Given the description of an element on the screen output the (x, y) to click on. 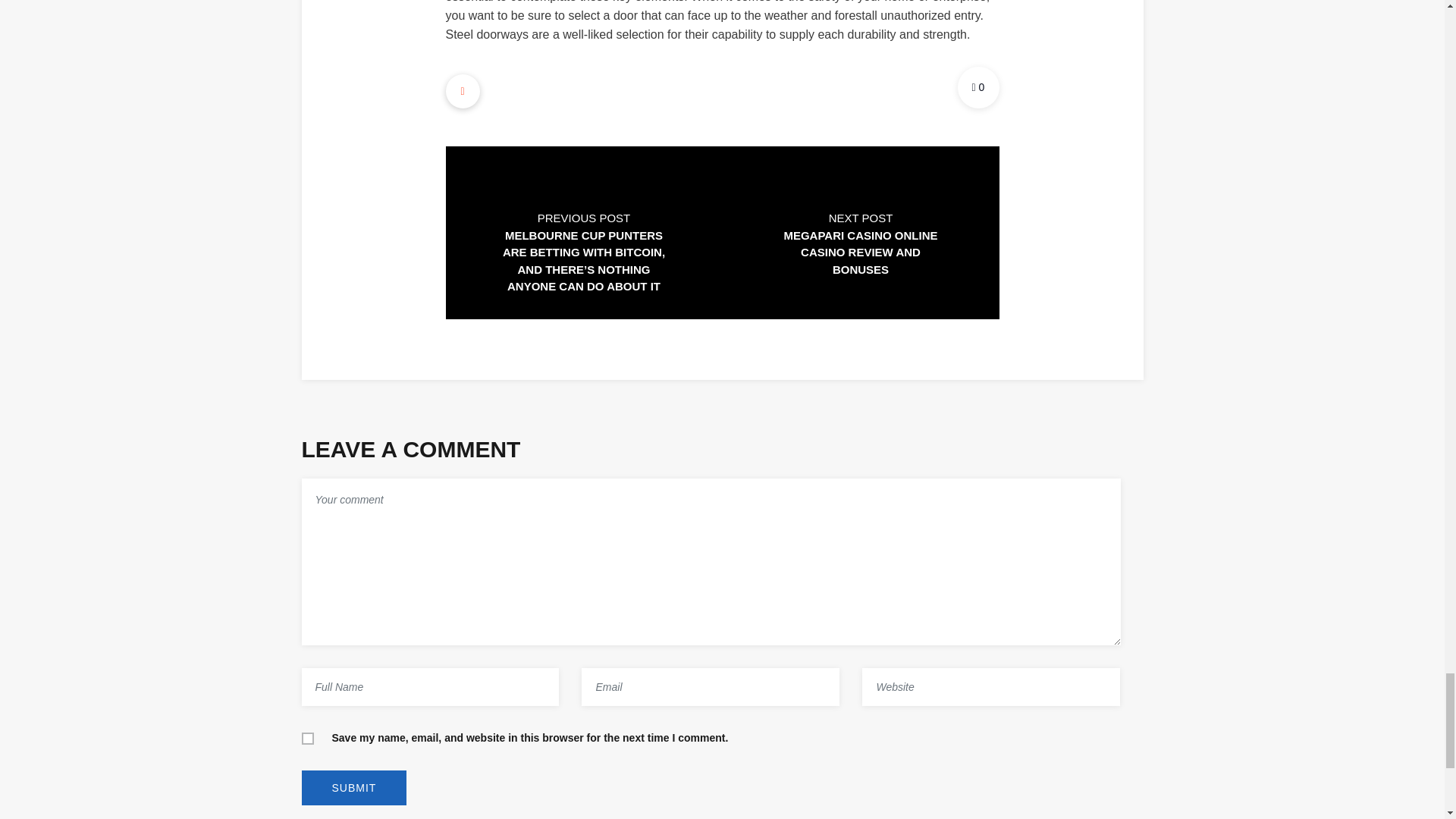
Submit (354, 787)
0 (977, 87)
Submit (354, 787)
